Given the description of an element on the screen output the (x, y) to click on. 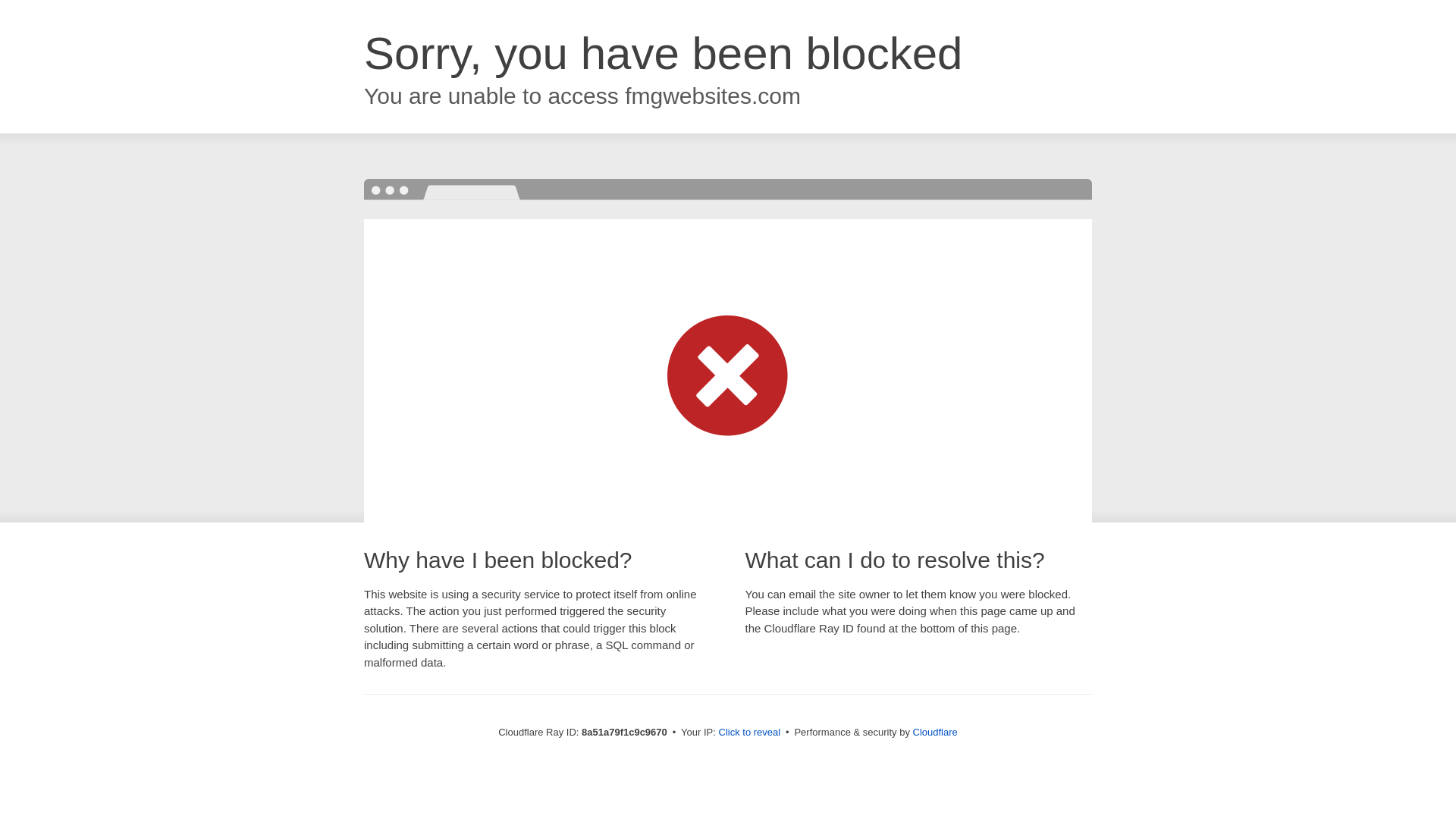
Cloudflare (935, 731)
Click to reveal (749, 732)
